Given the description of an element on the screen output the (x, y) to click on. 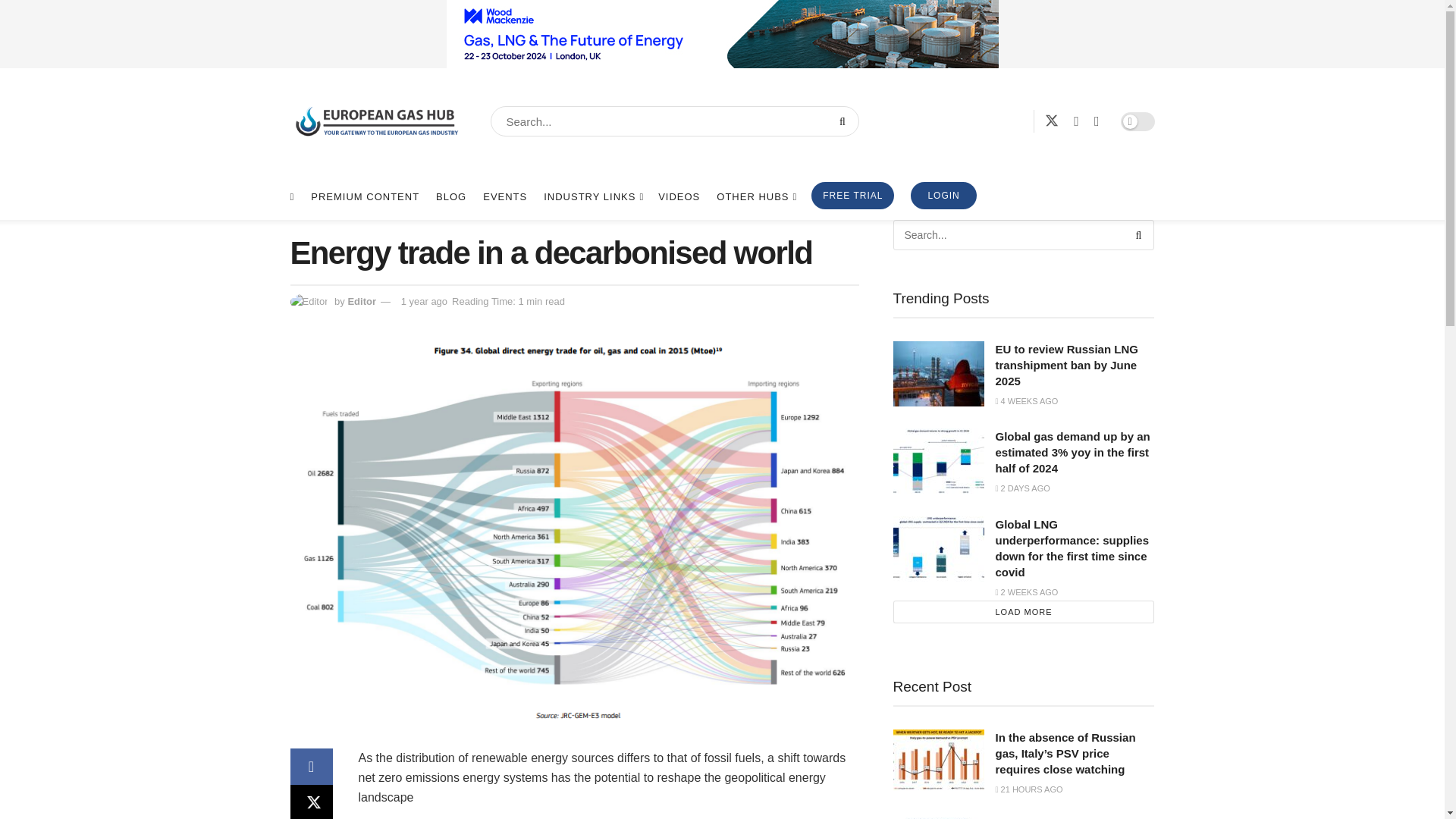
PREMIUM CONTENT (365, 197)
EVENTS (505, 197)
OTHER HUBS (755, 197)
VIDEOS (679, 197)
LOGIN (943, 195)
FREE TRIAL (851, 195)
BLOG (450, 197)
INDUSTRY LINKS (592, 197)
